Given the description of an element on the screen output the (x, y) to click on. 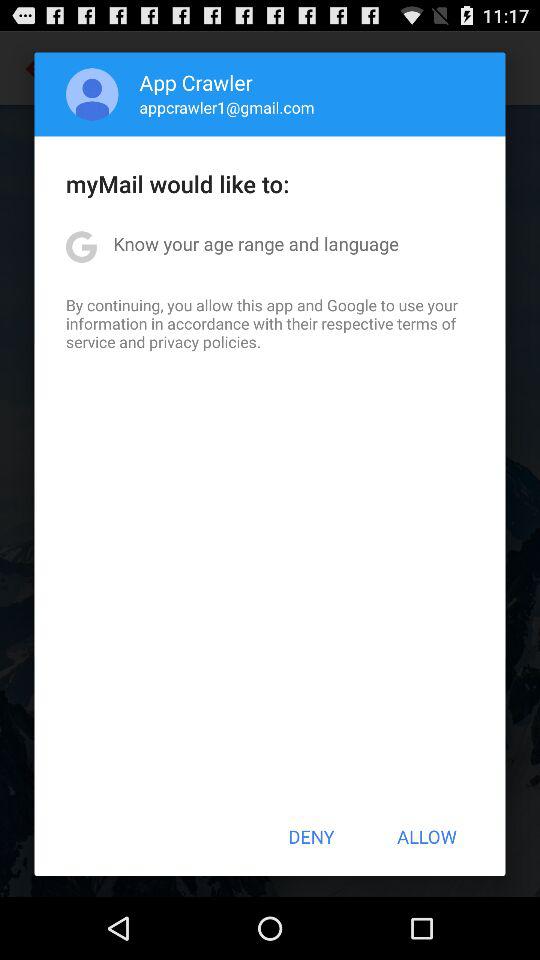
launch icon next to the app crawler (92, 94)
